Given the description of an element on the screen output the (x, y) to click on. 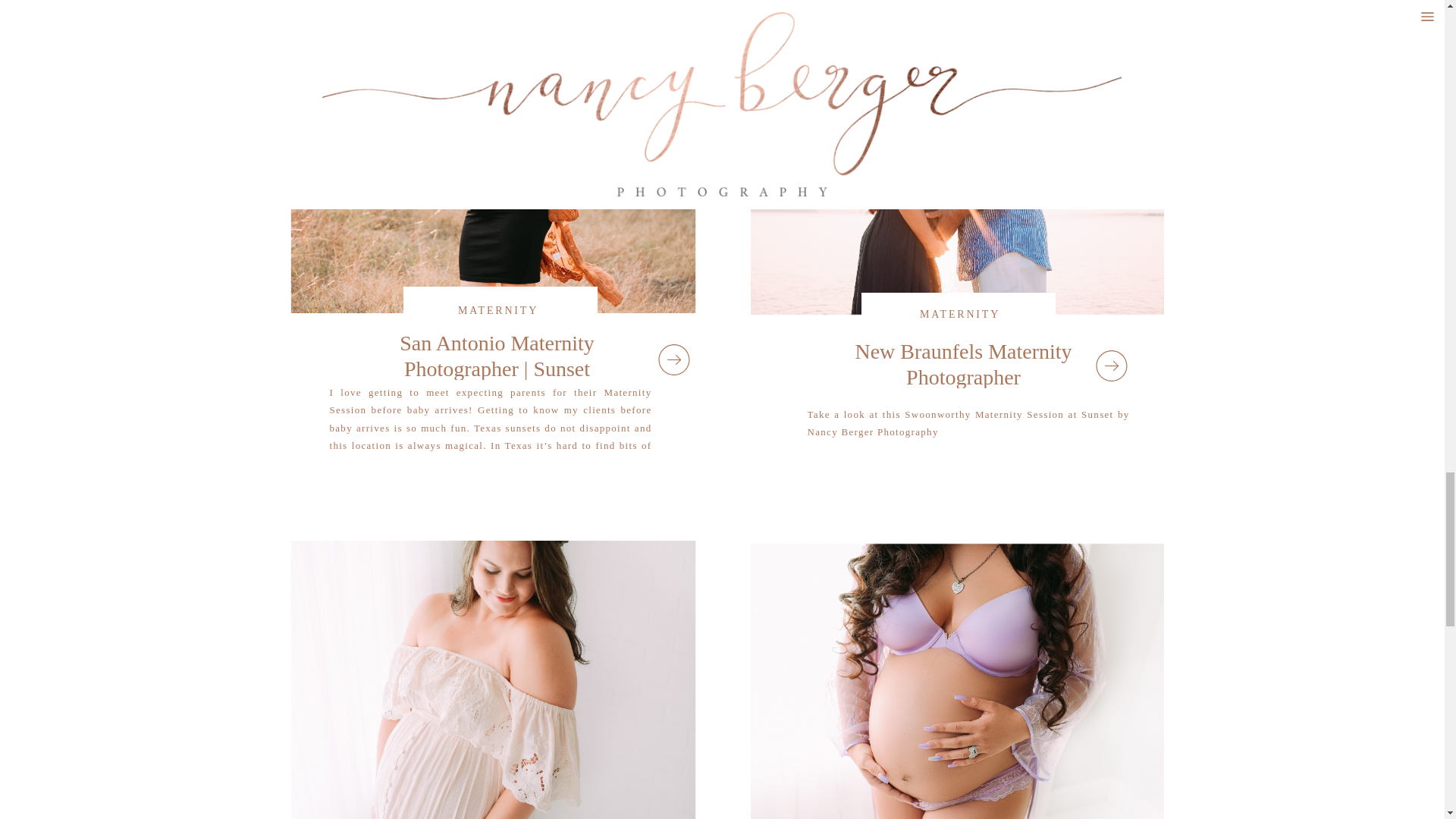
New Braunfels Maternity Photographer (1110, 365)
New Braunfels Maternity Photographer (957, 157)
